Given the description of an element on the screen output the (x, y) to click on. 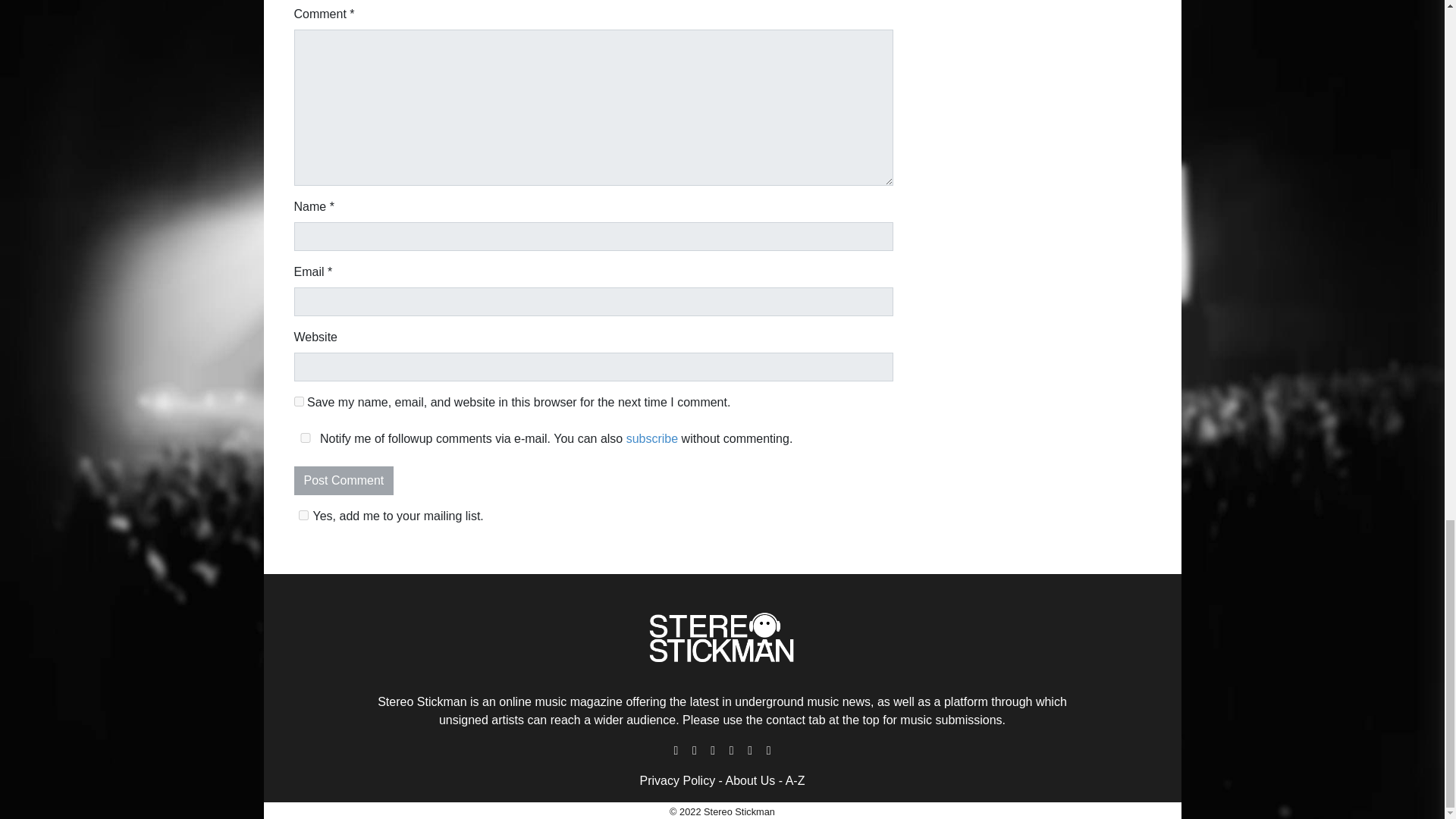
subscribe (652, 438)
1 (303, 515)
Post Comment (344, 480)
Post Comment (344, 480)
yes (305, 438)
yes (299, 401)
